Given the description of an element on the screen output the (x, y) to click on. 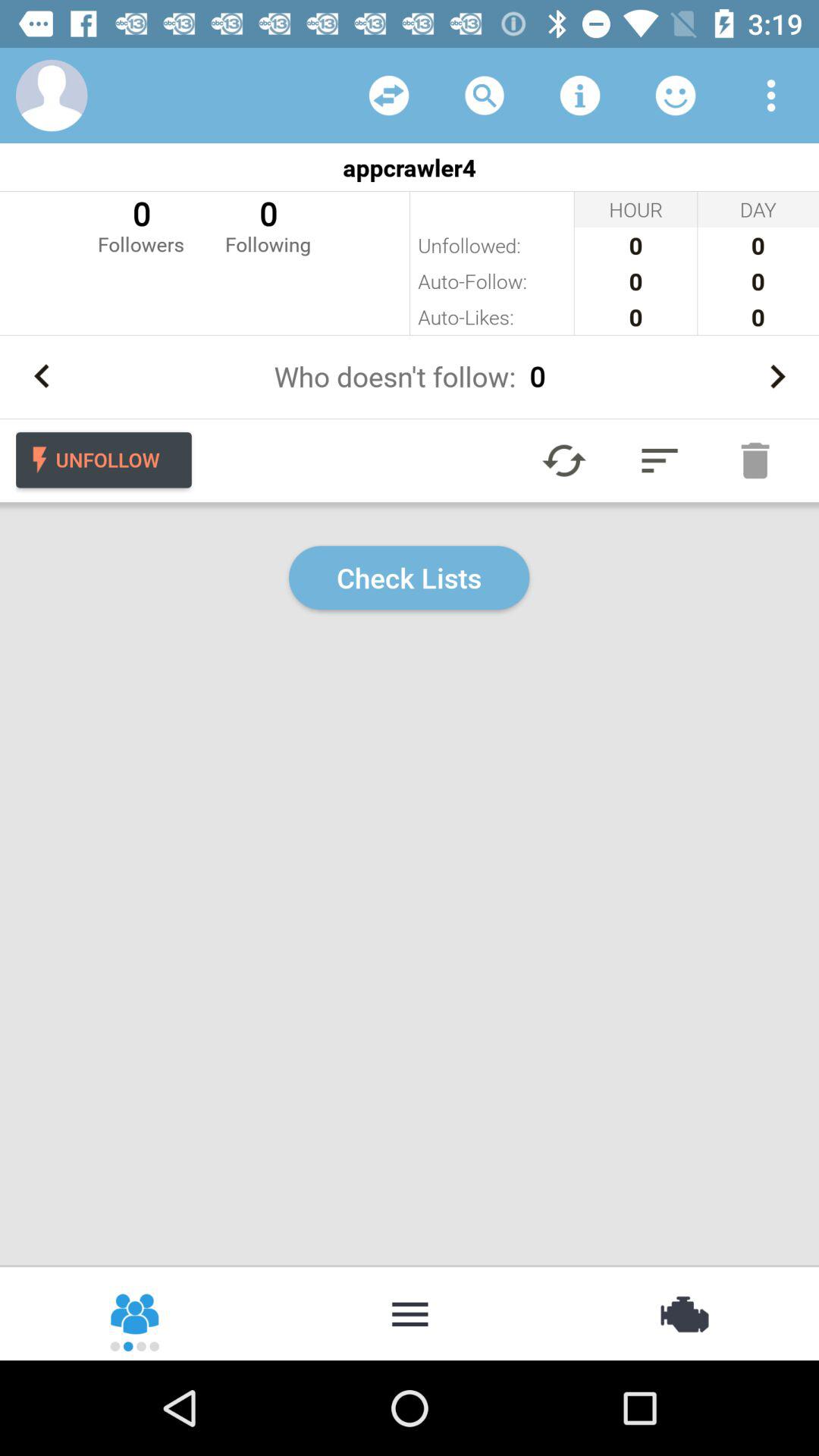
go back (41, 376)
